Given the description of an element on the screen output the (x, y) to click on. 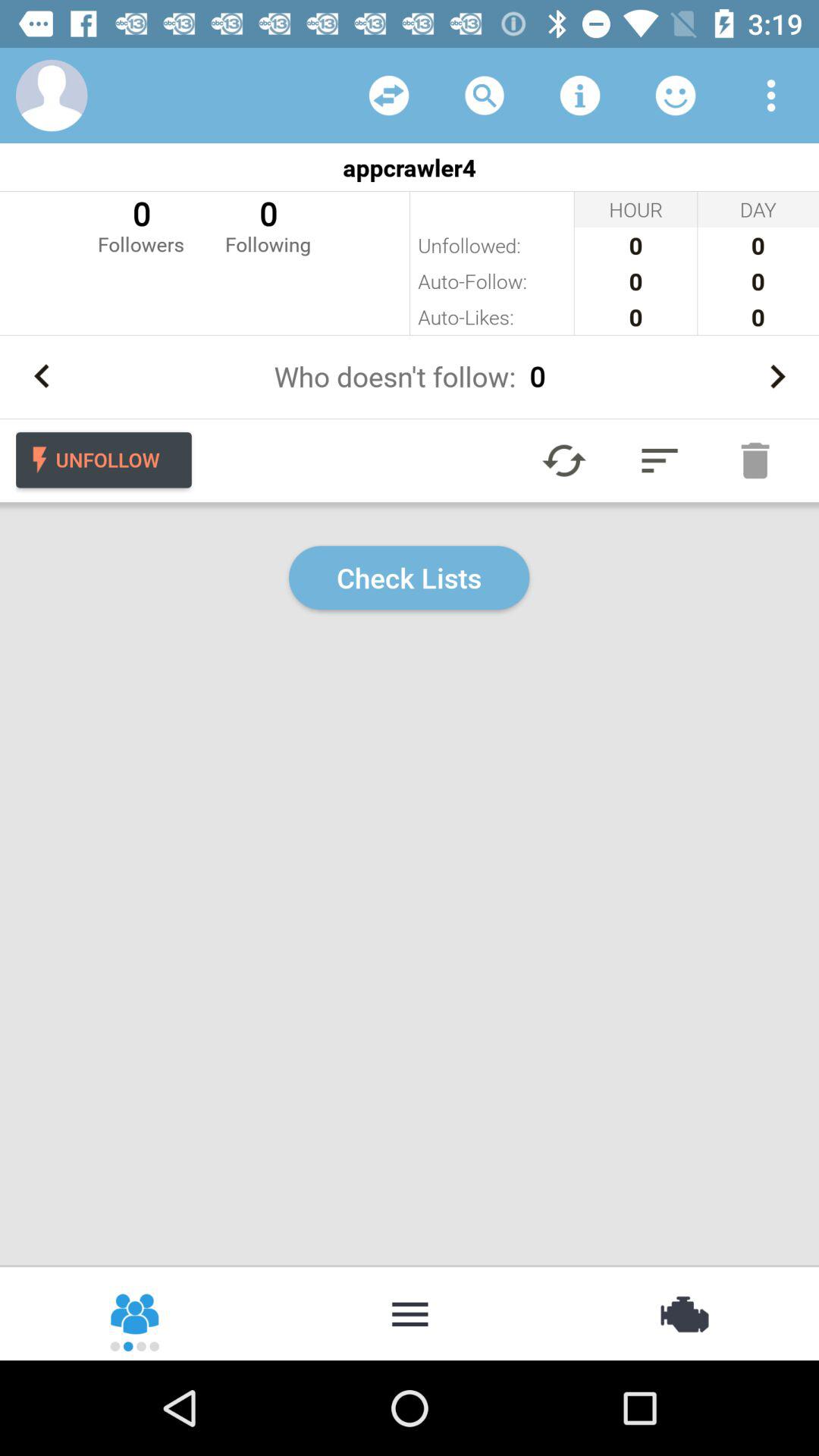
go back (41, 376)
